Given the description of an element on the screen output the (x, y) to click on. 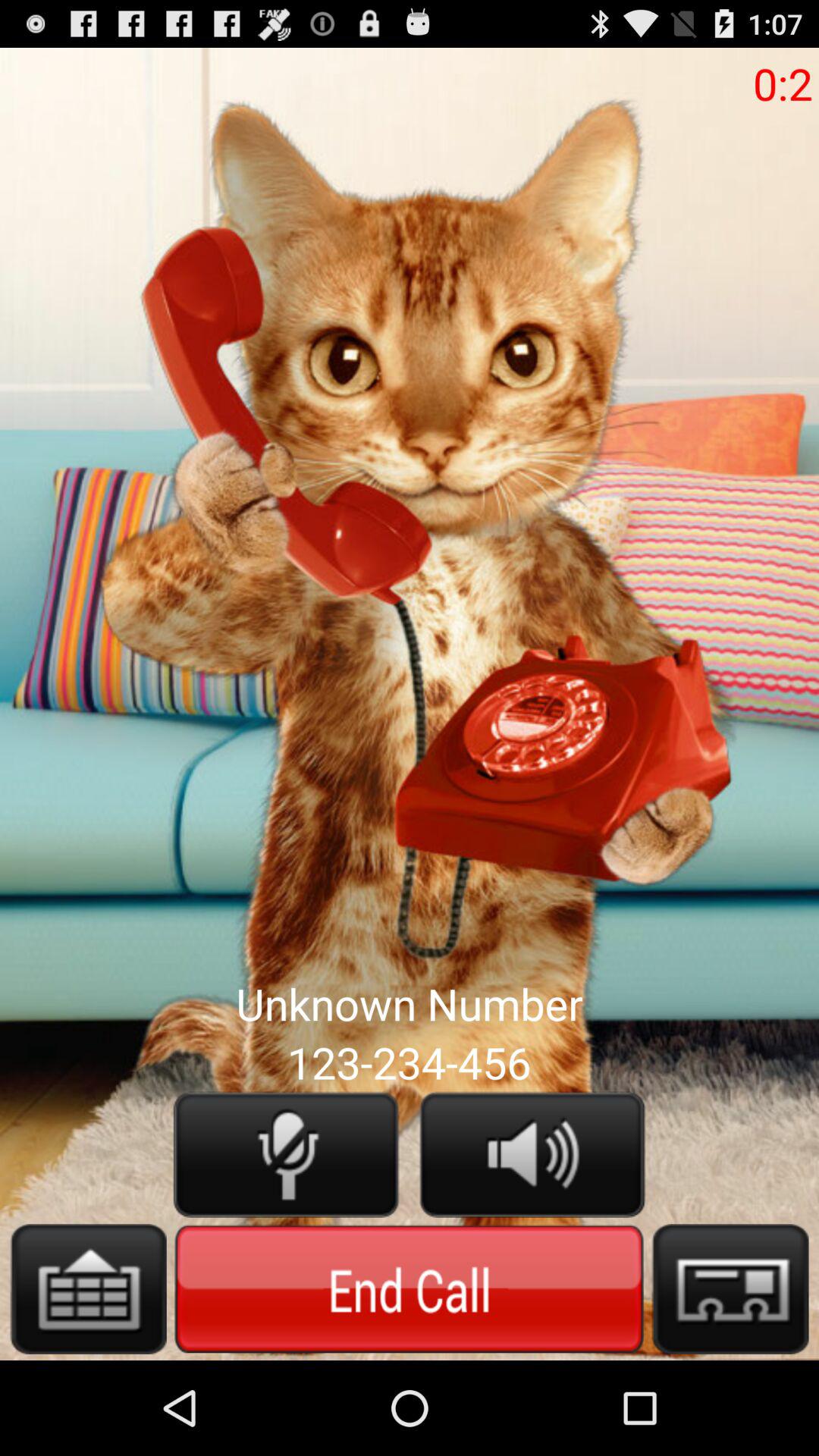
mute option (286, 1154)
